Given the description of an element on the screen output the (x, y) to click on. 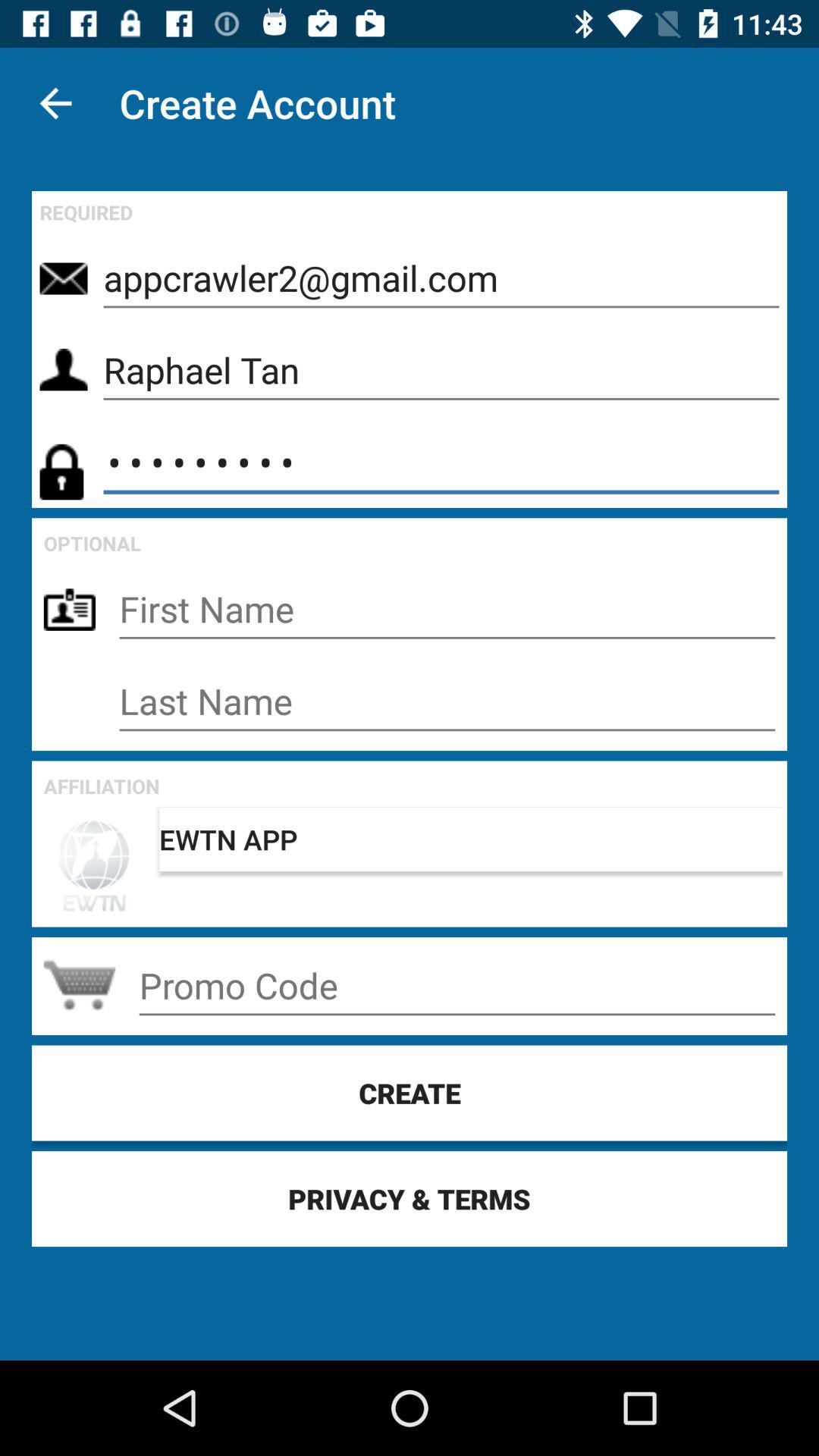
select icon next to the affiliation item (471, 839)
